Given the description of an element on the screen output the (x, y) to click on. 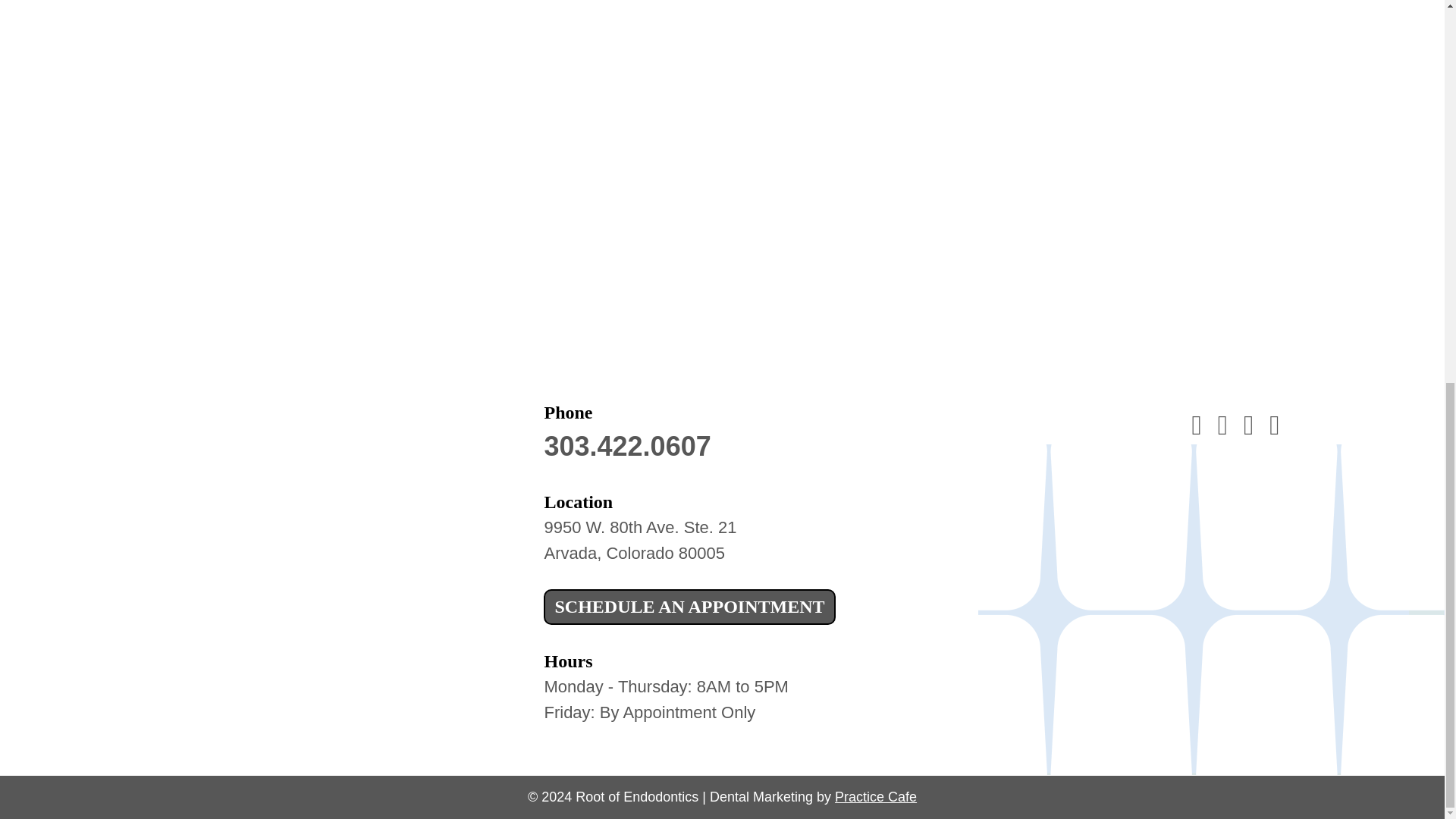
303.422.0607 (639, 539)
Practice Cafe (626, 445)
SCHEDULE AN APPOINTMENT (875, 796)
